Given the description of an element on the screen output the (x, y) to click on. 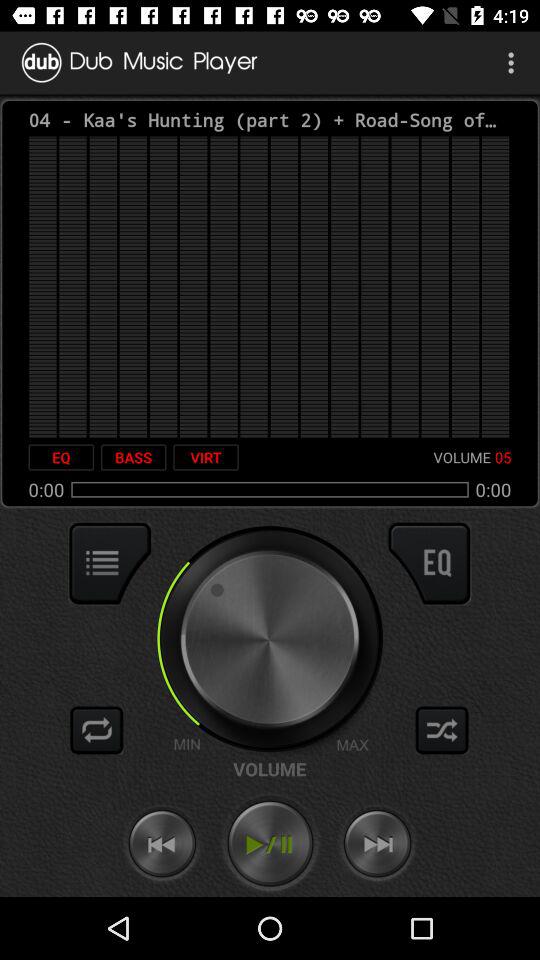
click icon below 0:36 item (429, 563)
